Given the description of an element on the screen output the (x, y) to click on. 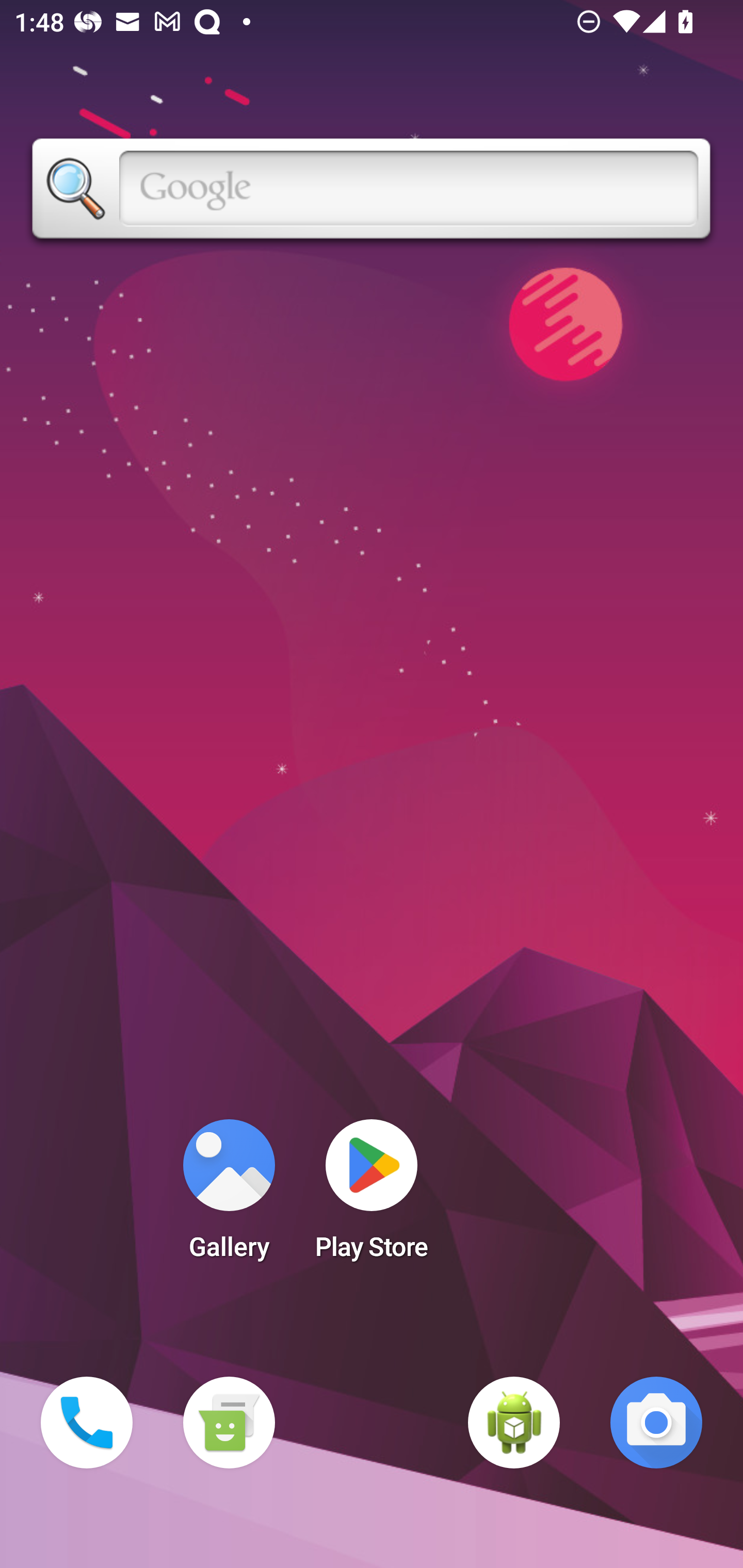
Gallery (228, 1195)
Play Store (371, 1195)
Phone (86, 1422)
Messaging (228, 1422)
WebView Browser Tester (513, 1422)
Camera (656, 1422)
